Given the description of an element on the screen output the (x, y) to click on. 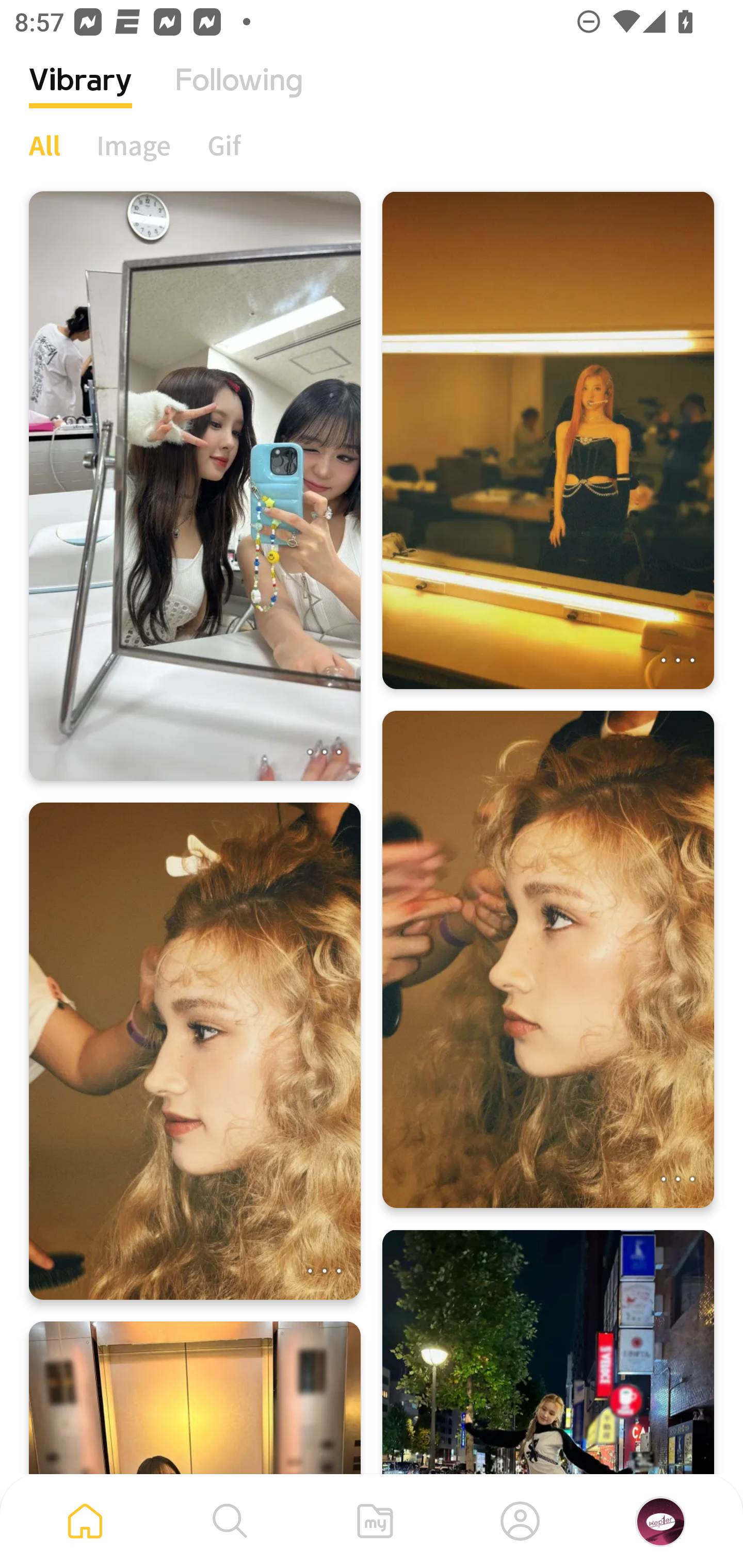
Vibrary (80, 95)
Following (239, 95)
All (44, 145)
Image (133, 145)
Gif (223, 145)
